Given the description of an element on the screen output the (x, y) to click on. 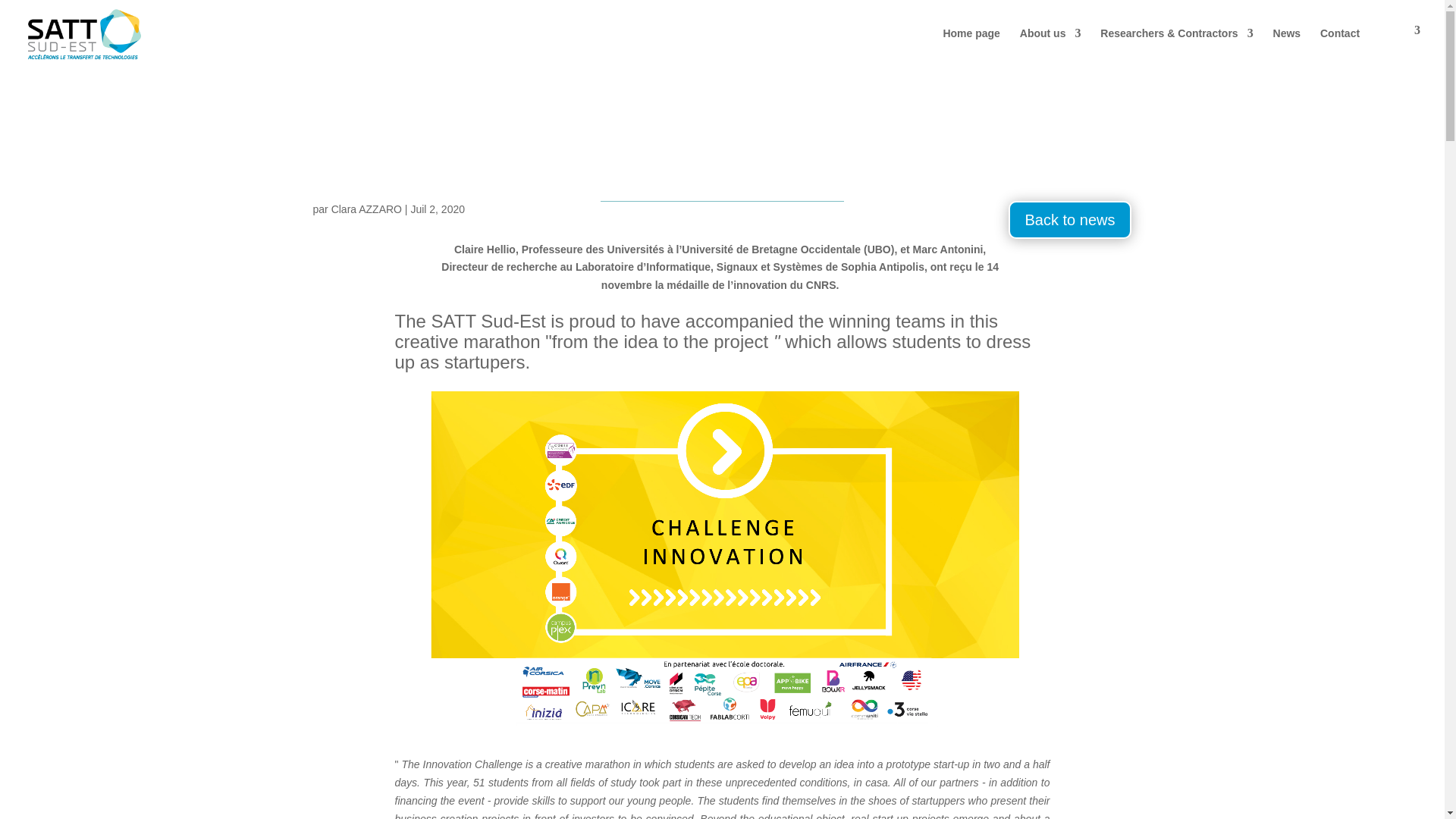
Clara AZZARO (366, 209)
Back to news (1070, 219)
Contact (1339, 45)
About us (1050, 45)
Home page (970, 45)
Articles de Clara AZZARO (366, 209)
English (1399, 46)
